Given the description of an element on the screen output the (x, y) to click on. 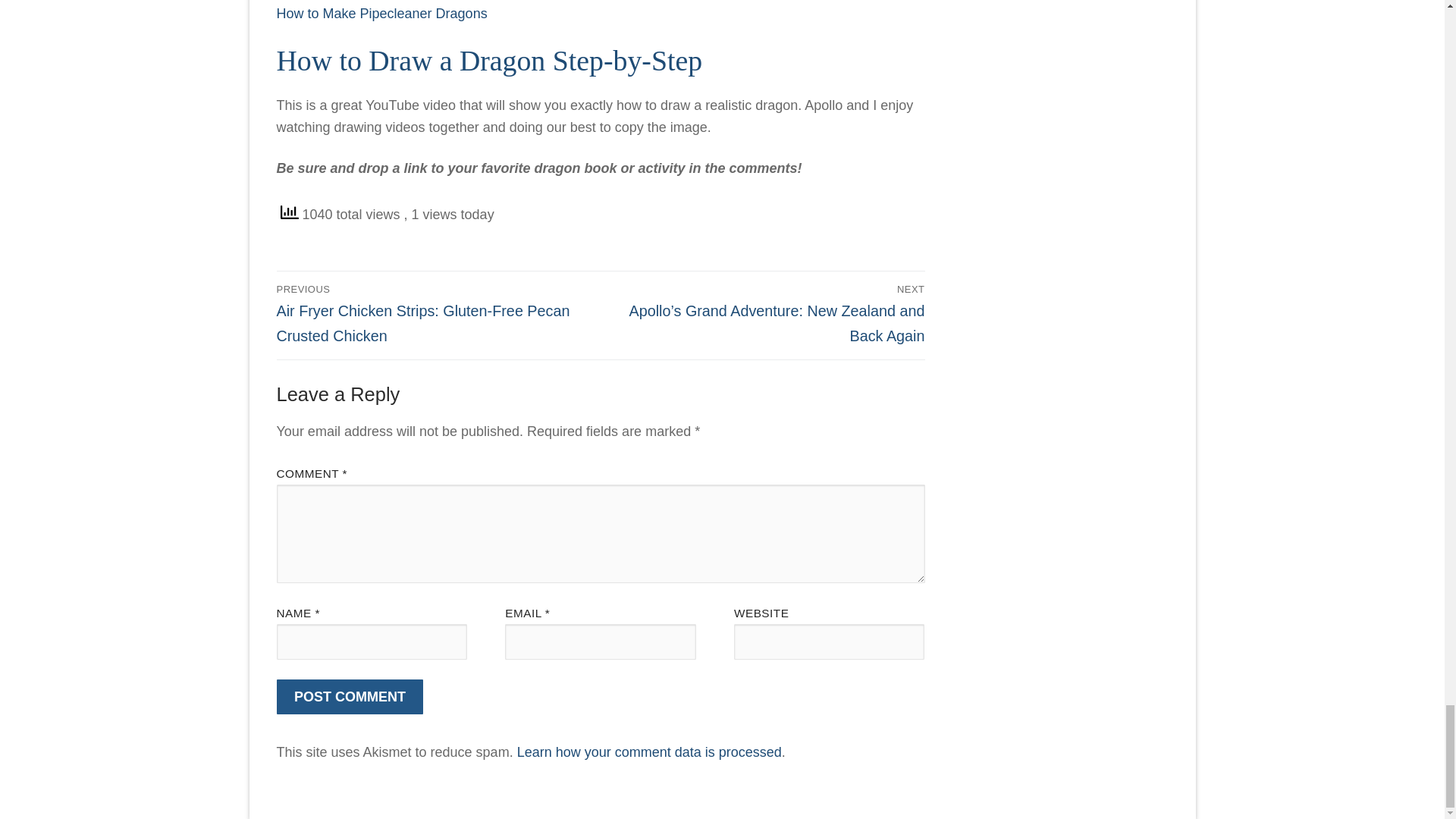
Learn how your comment data is processed (648, 752)
How to Make Pipecleaner Dragons (381, 13)
Post Comment (349, 696)
Post Comment (349, 696)
How to Draw a Dragon Step-by-Step (488, 60)
